Given the description of an element on the screen output the (x, y) to click on. 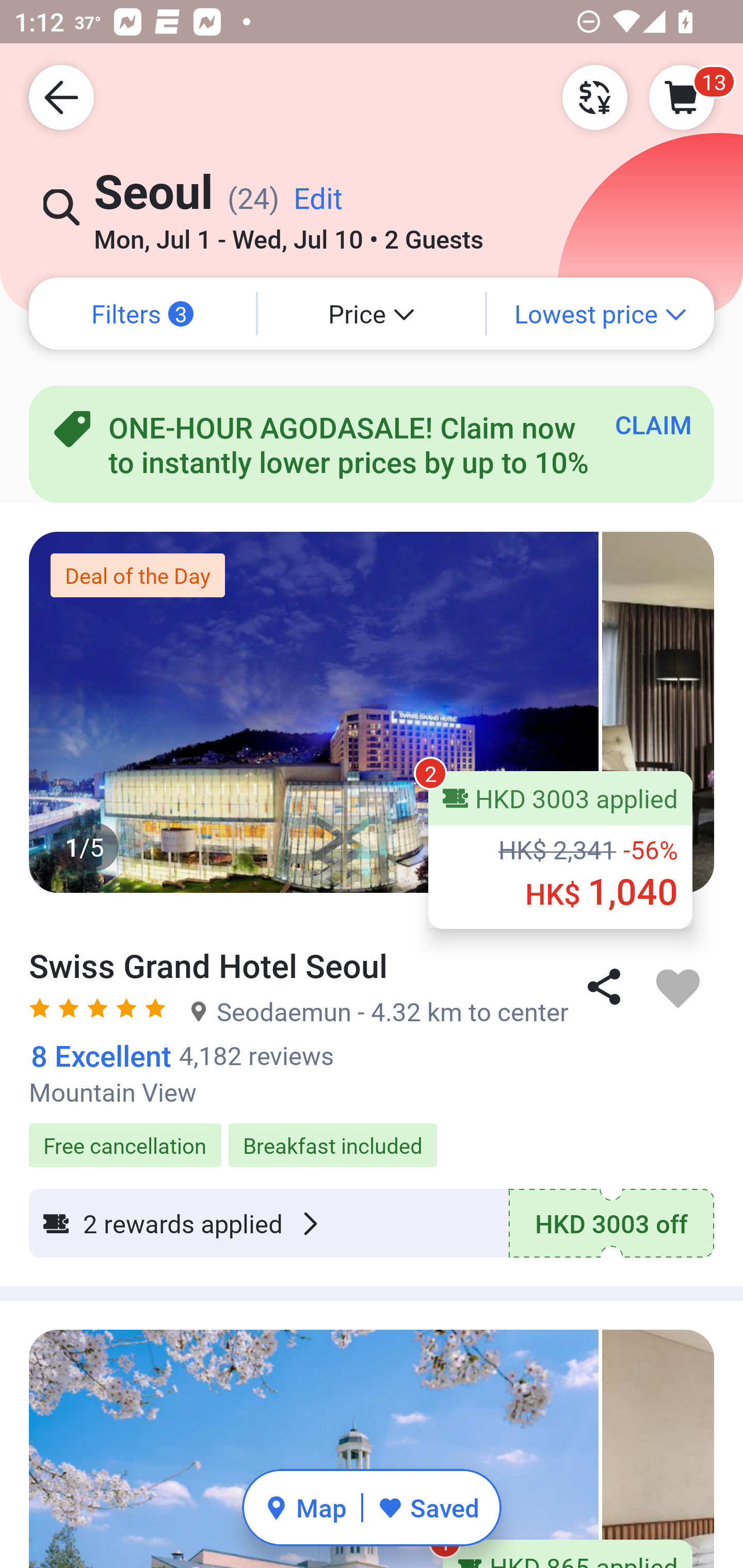
Mon, Jul 1 - Wed, Jul 10 • 2 Guests (288, 232)
Filters 3 (141, 313)
Price (371, 313)
Lowest price (600, 313)
CLAIM (653, 424)
1/5 (371, 711)
Deal of the Day (137, 575)
HKD 3003 applied ‪HK$ 2,341 -56% ‪HK$ 1,040 2 (559, 849)
Free cancellation Breakfast included (371, 1134)
2 rewards applied HKD 3003 off (371, 1223)
Map (305, 1507)
Saved (428, 1507)
